Given the description of an element on the screen output the (x, y) to click on. 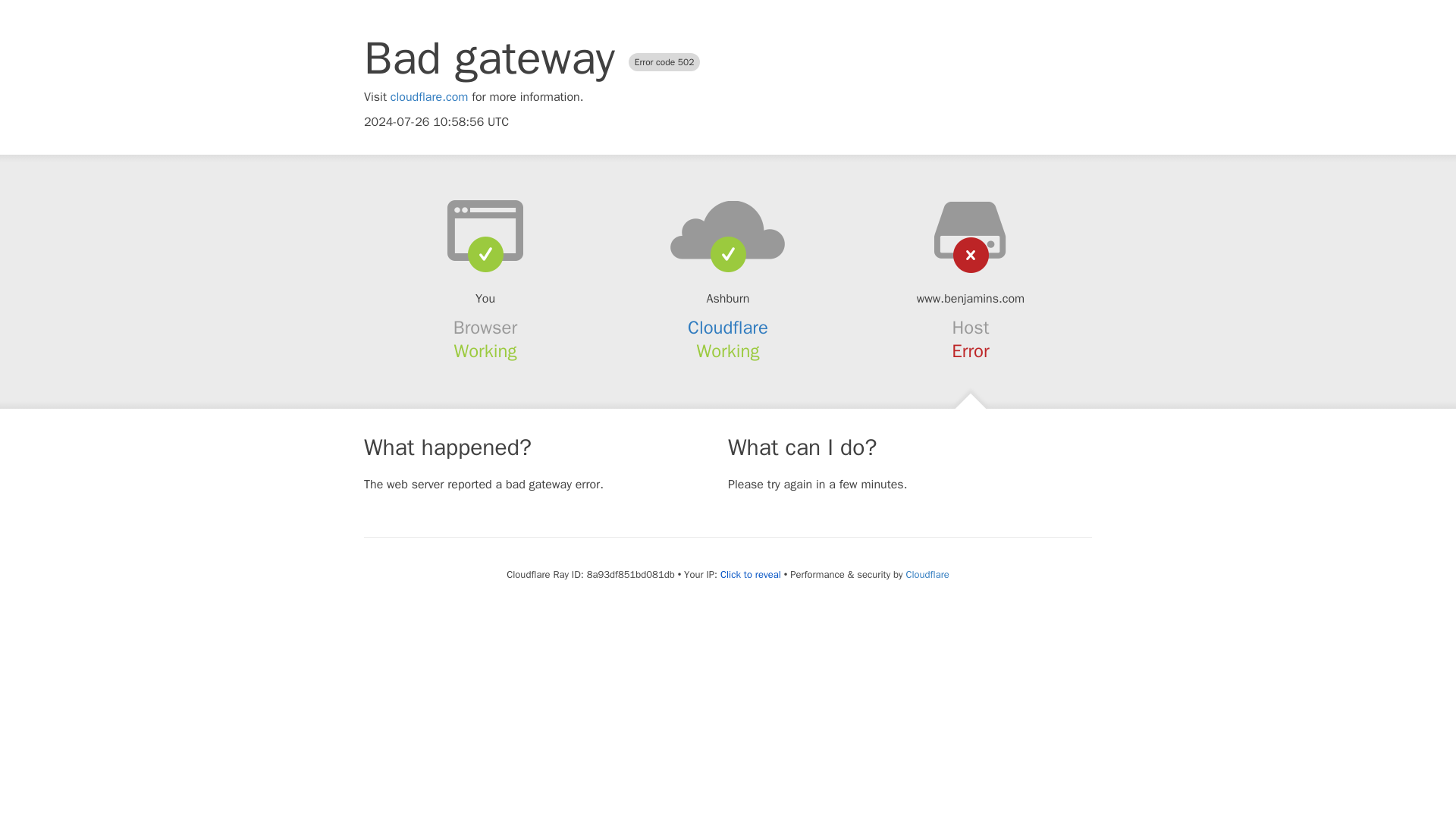
Cloudflare (727, 327)
Click to reveal (750, 574)
cloudflare.com (429, 96)
Cloudflare (927, 574)
